Given the description of an element on the screen output the (x, y) to click on. 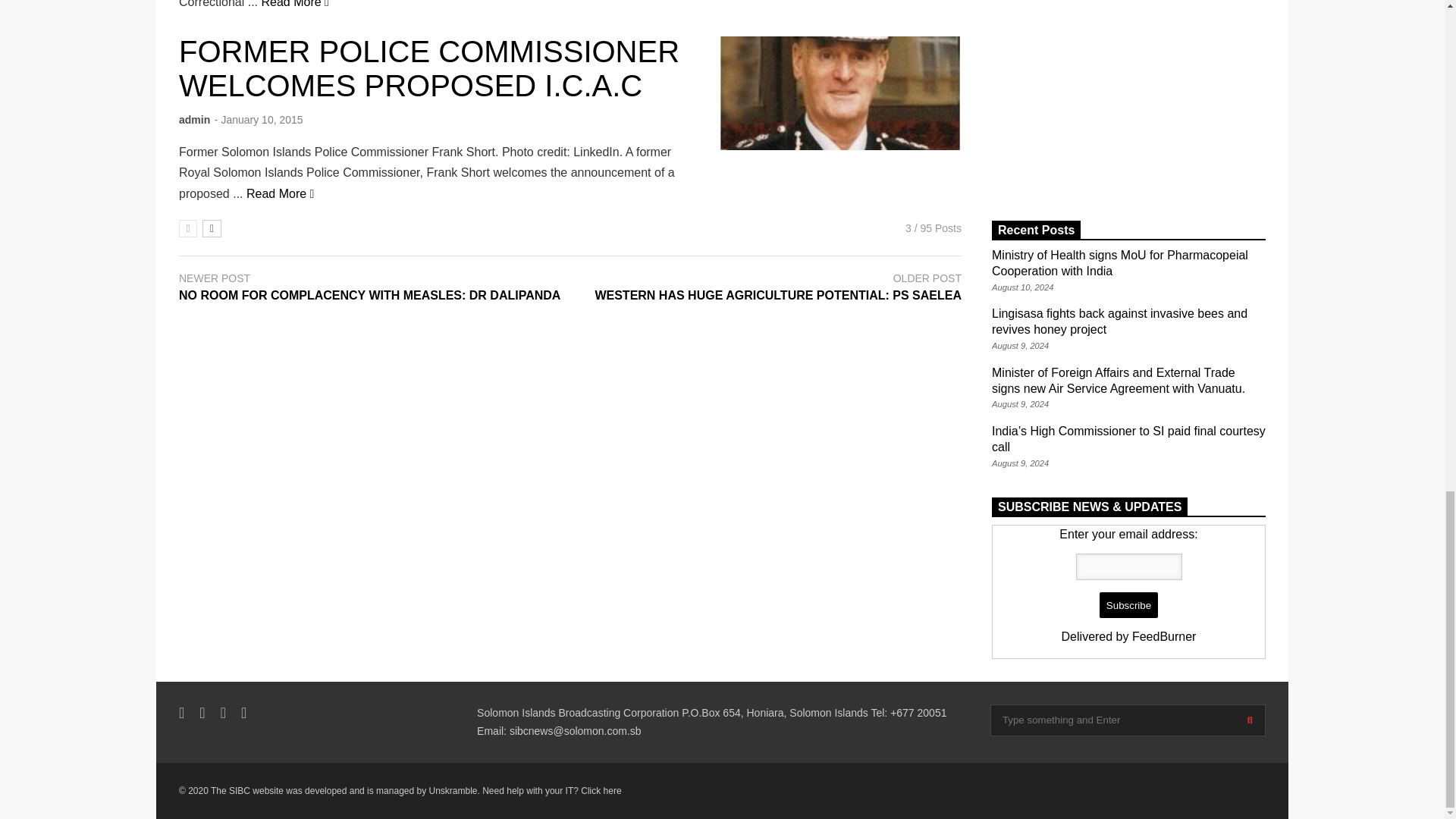
Subscribe (1128, 605)
FORMER POLICE COMMISSIONER WELCOMES PROPOSED I.C.A.C (839, 92)
Sikua guilty of corruption (295, 4)
